Given the description of an element on the screen output the (x, y) to click on. 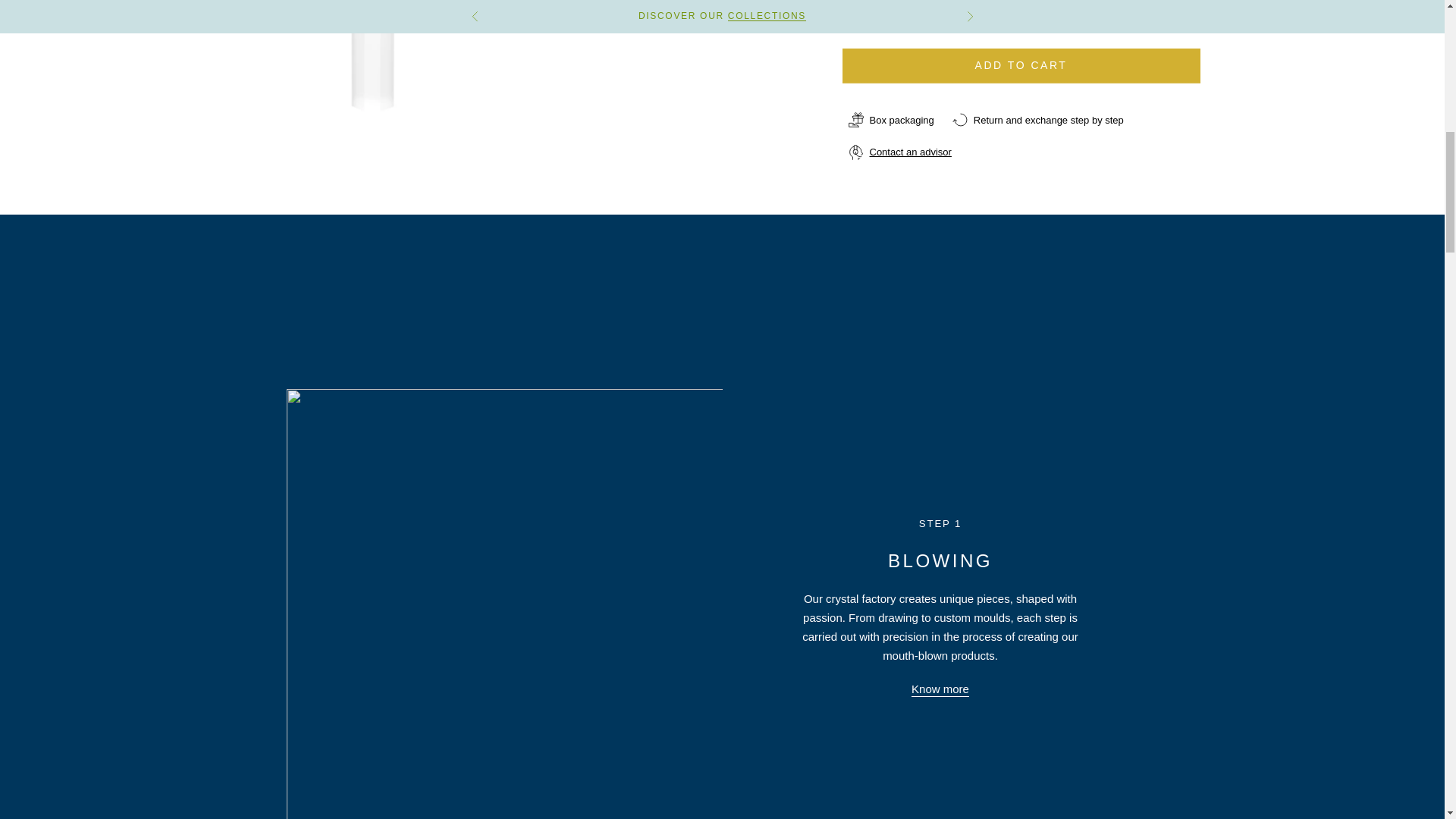
Contact (909, 110)
